Given the description of an element on the screen output the (x, y) to click on. 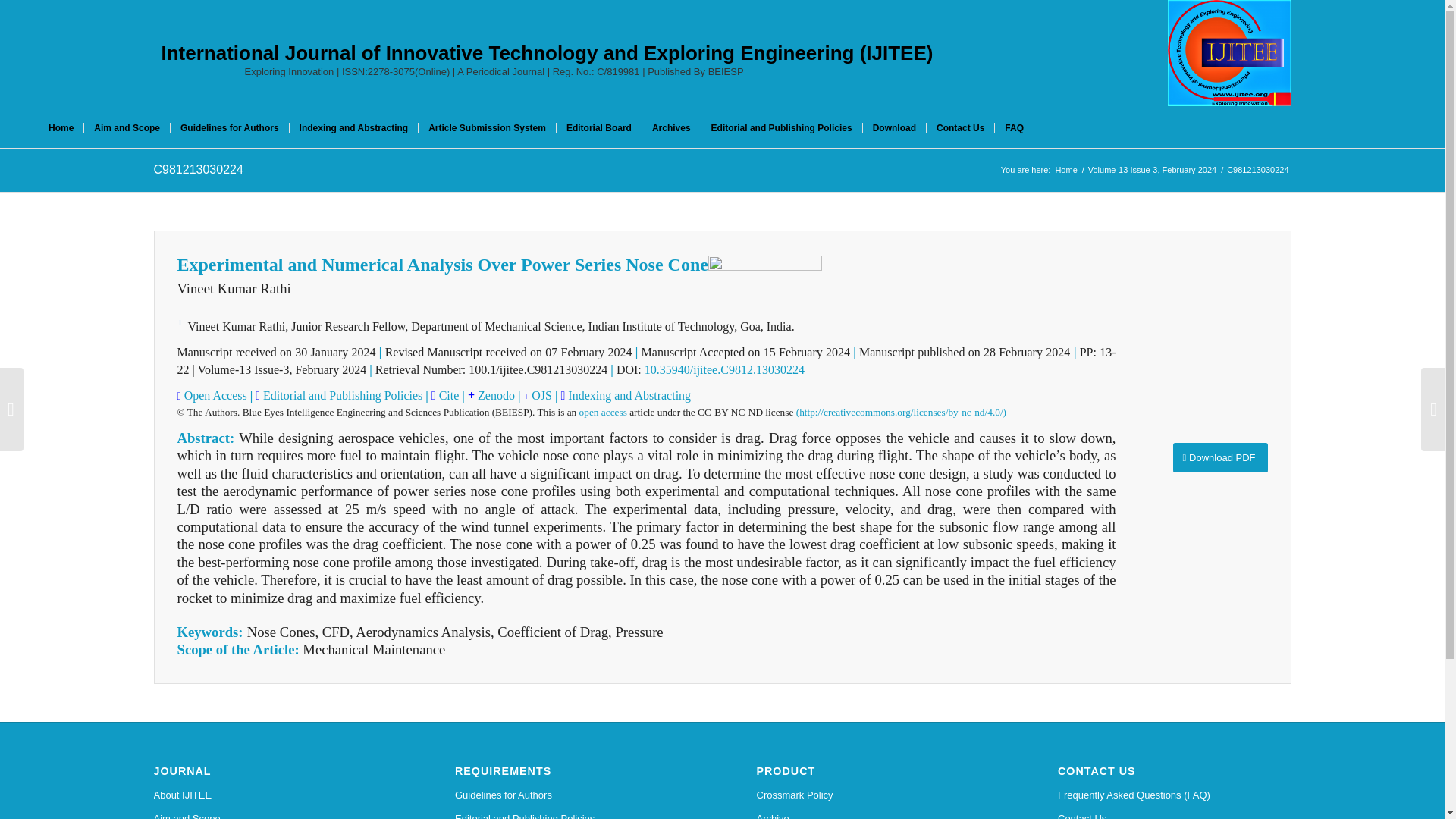
Article Submission System (486, 127)
C981213030224 (197, 169)
Cite (449, 395)
Download (893, 127)
Home (60, 127)
Editorial and Publishing Policies (571, 813)
Zenodo (494, 395)
open access (603, 411)
About IJITEE (269, 794)
Guidelines for Authors (571, 794)
